Given the description of an element on the screen output the (x, y) to click on. 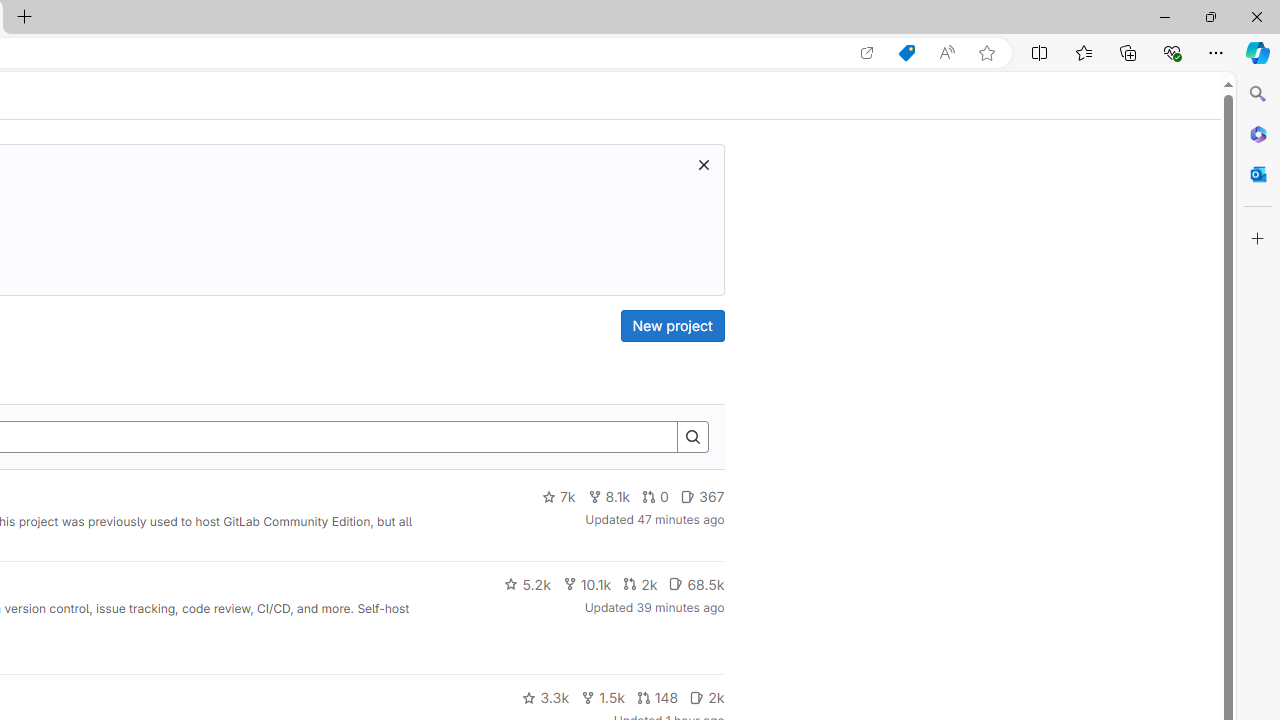
148 (657, 697)
Open in app (867, 53)
Dismiss trial promotion (703, 164)
5.2k (527, 583)
8.1k (609, 497)
367 (701, 497)
10.1k (586, 583)
